Given the description of an element on the screen output the (x, y) to click on. 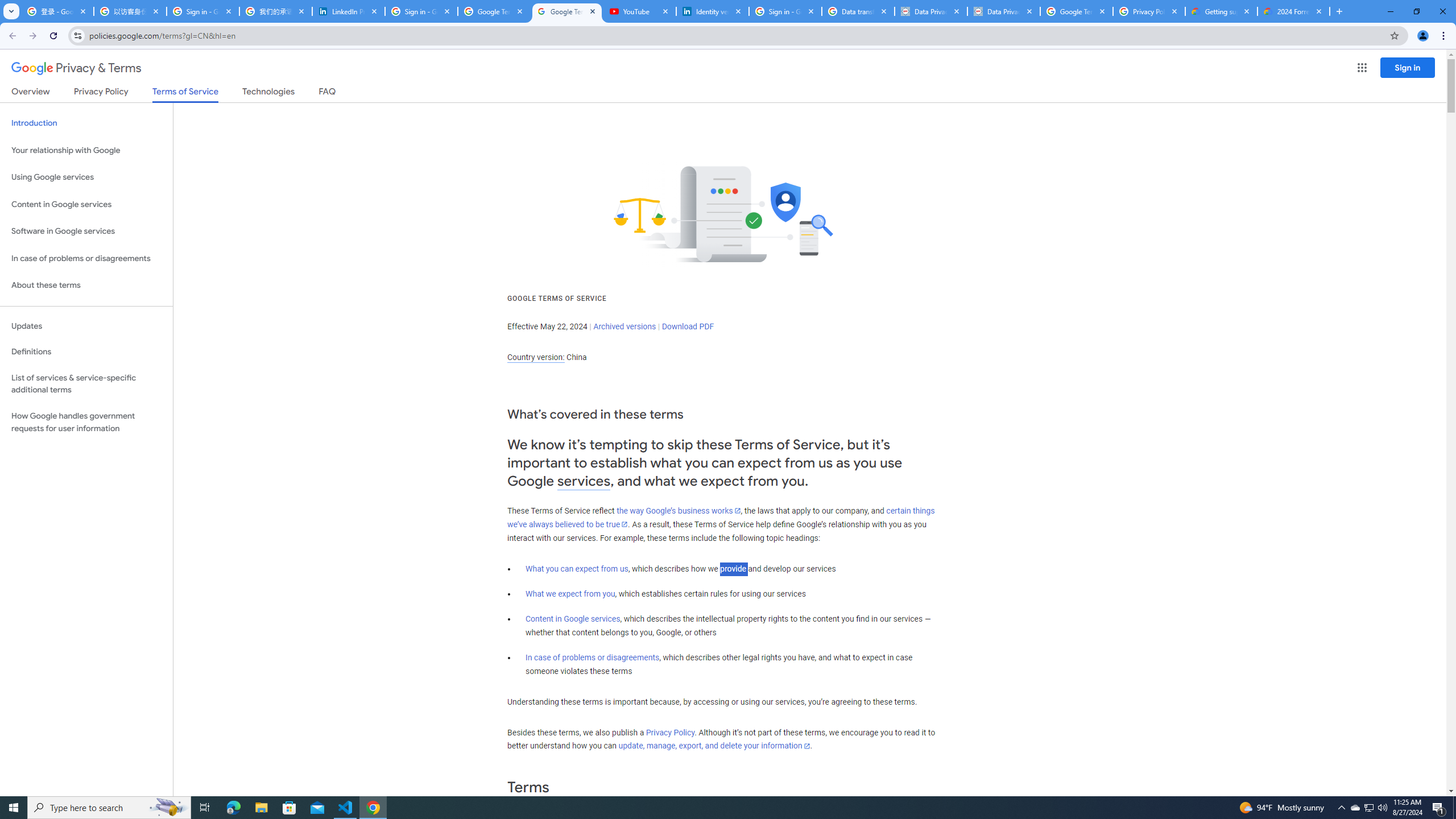
Download PDF (687, 326)
In case of problems or disagreements (592, 657)
Content in Google services (572, 618)
Country version: (535, 357)
What we expect from you (570, 593)
update, manage, export, and delete your information (714, 746)
